Given the description of an element on the screen output the (x, y) to click on. 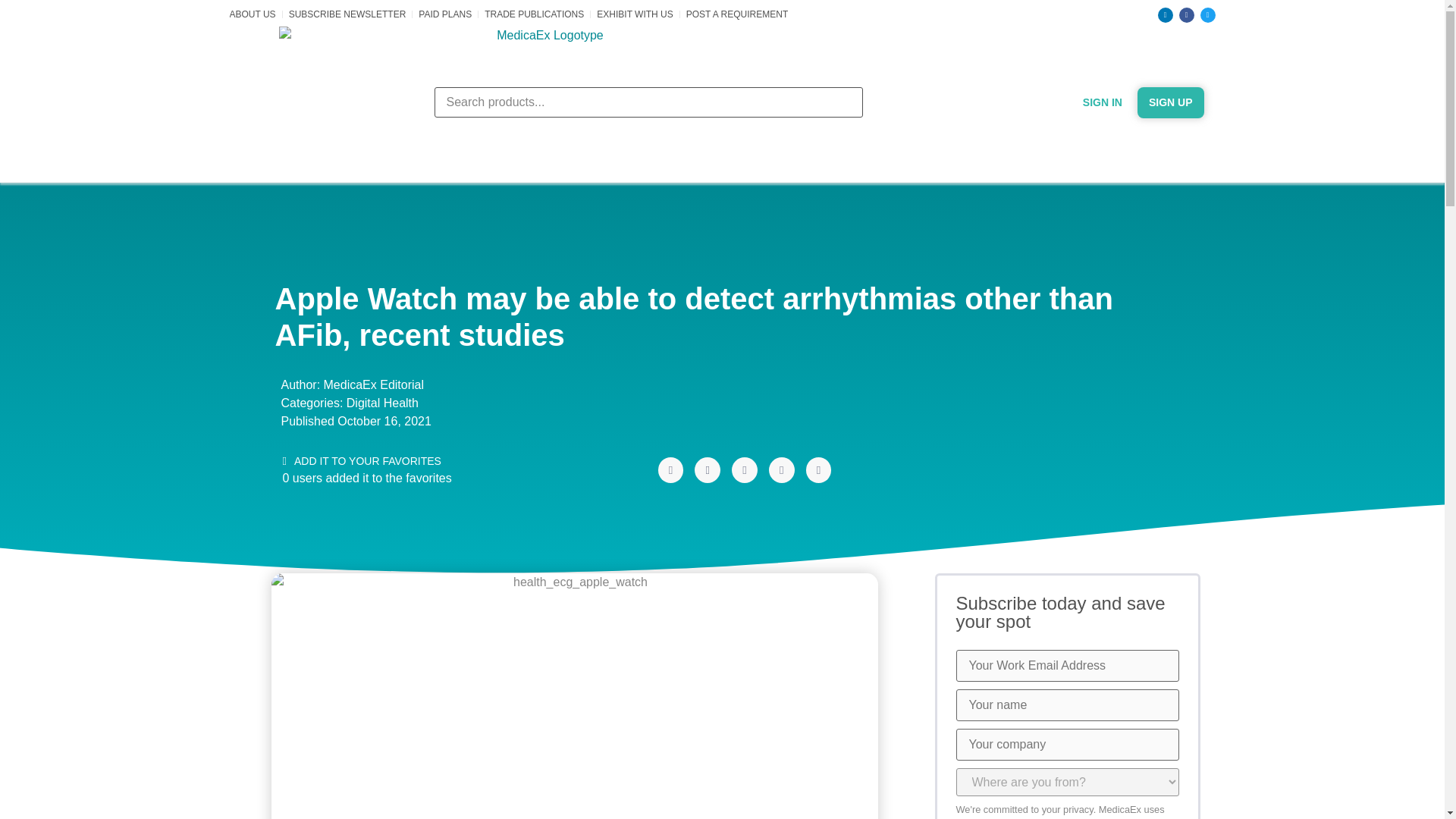
SIGN IN (1102, 101)
TRADE PUBLICATIONS (533, 14)
SUBSCRIBE NEWSLETTER (347, 14)
PAID PLANS (445, 14)
ABOUT US (251, 14)
EXHIBIT WITH US (634, 14)
Author: MedicaEx Editorial (349, 384)
SIGN UP (1170, 101)
Digital Health (382, 401)
ADD IT TO YOUR FAVORITES (361, 461)
POST A REQUIREMENT (736, 14)
